Given the description of an element on the screen output the (x, y) to click on. 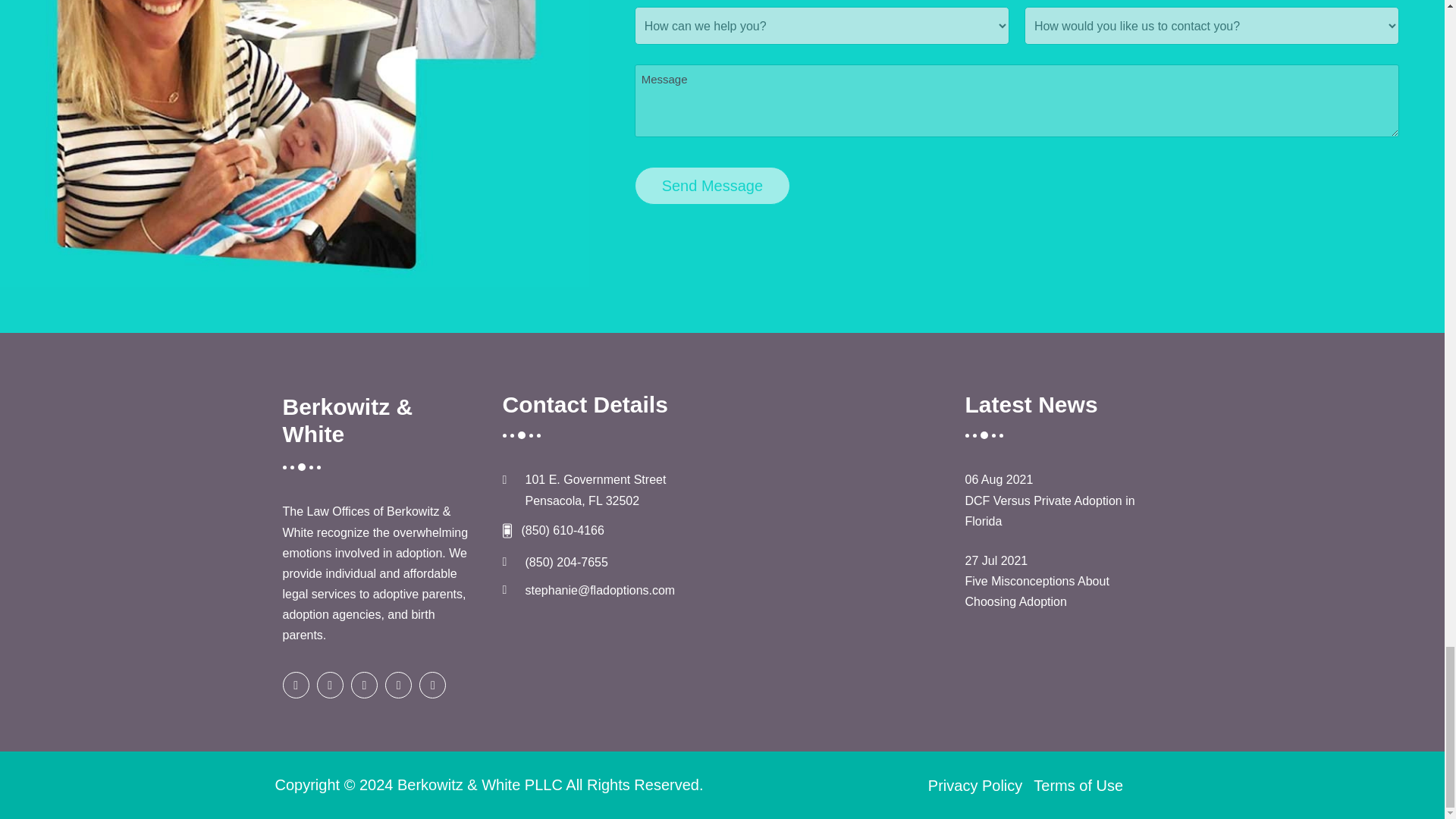
Send Message (712, 185)
